Given the description of an element on the screen output the (x, y) to click on. 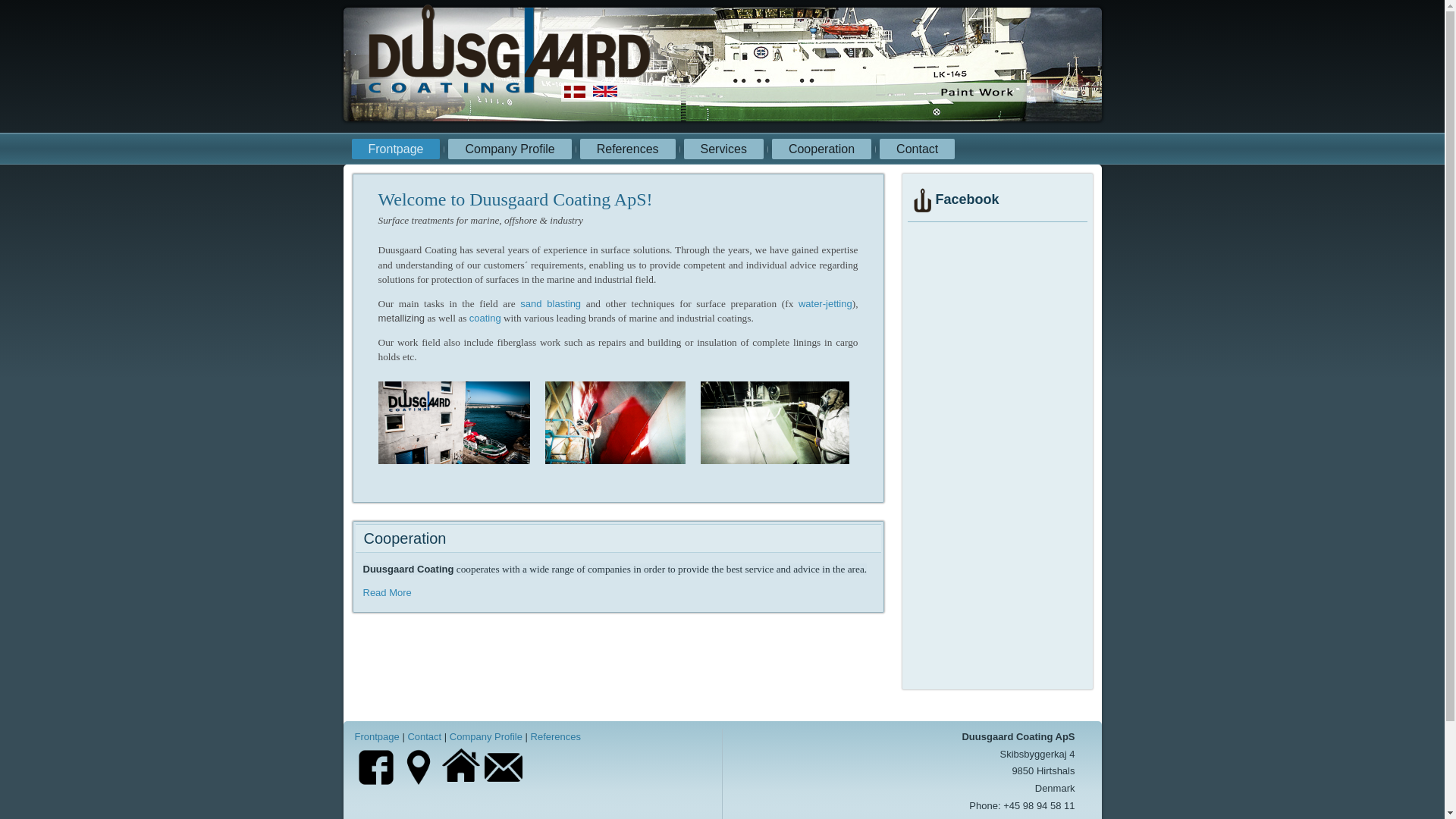
Frontpage (396, 148)
Dansk (574, 91)
English (604, 91)
Metallizing (401, 317)
Coating (484, 317)
Sand Blasting (549, 302)
References (627, 148)
Company Profile (509, 148)
Services (723, 148)
Water-jetting (824, 302)
